Given the description of an element on the screen output the (x, y) to click on. 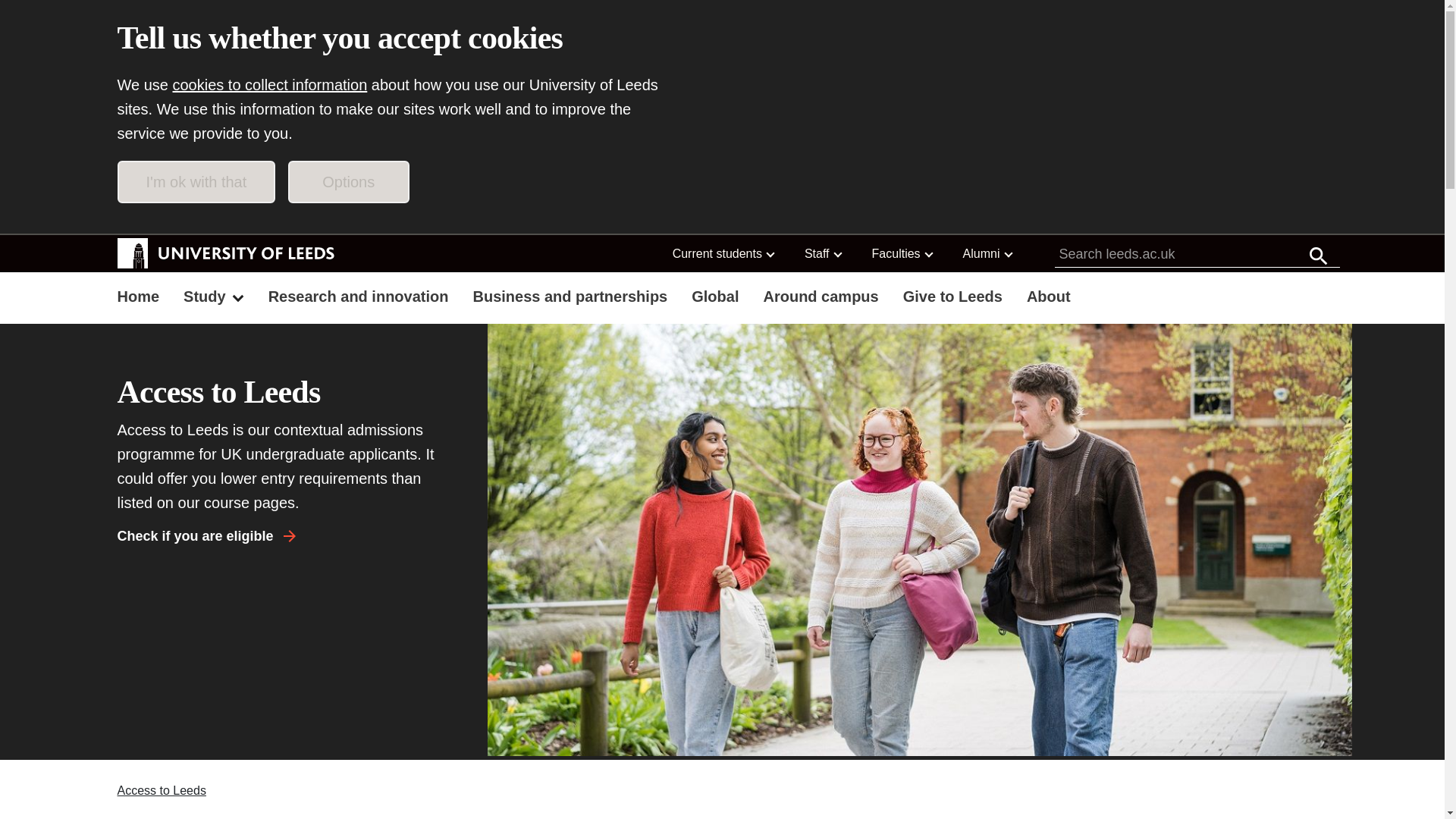
cookies to collect information (270, 84)
Options (348, 181)
Alumni (986, 253)
Current students (723, 253)
Study (213, 297)
I'm ok with that (195, 181)
Home (137, 297)
Staff (822, 253)
Research and innovation (358, 297)
Global (715, 297)
